Given the description of an element on the screen output the (x, y) to click on. 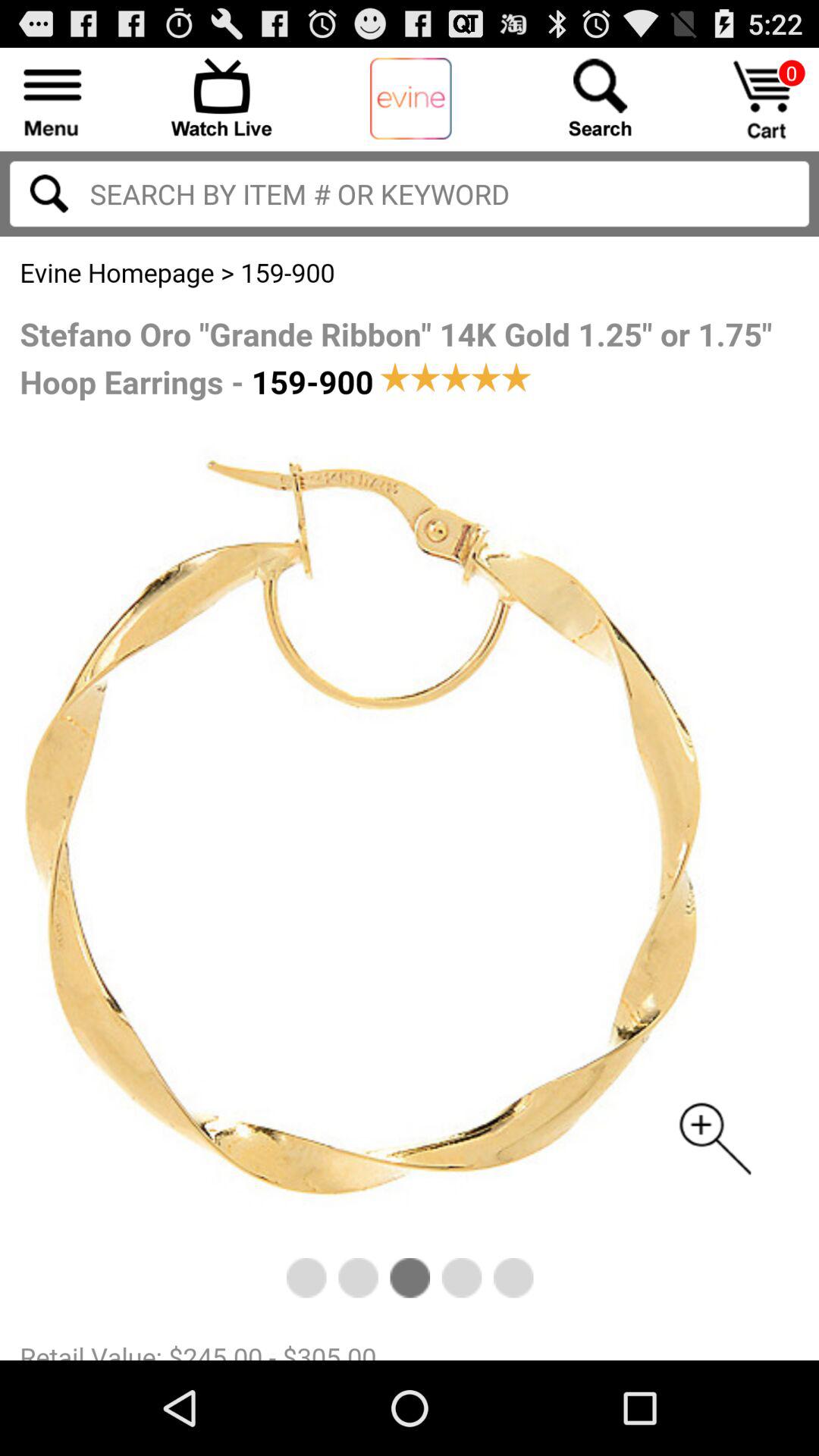
search the input text to right (49, 193)
